Given the description of an element on the screen output the (x, y) to click on. 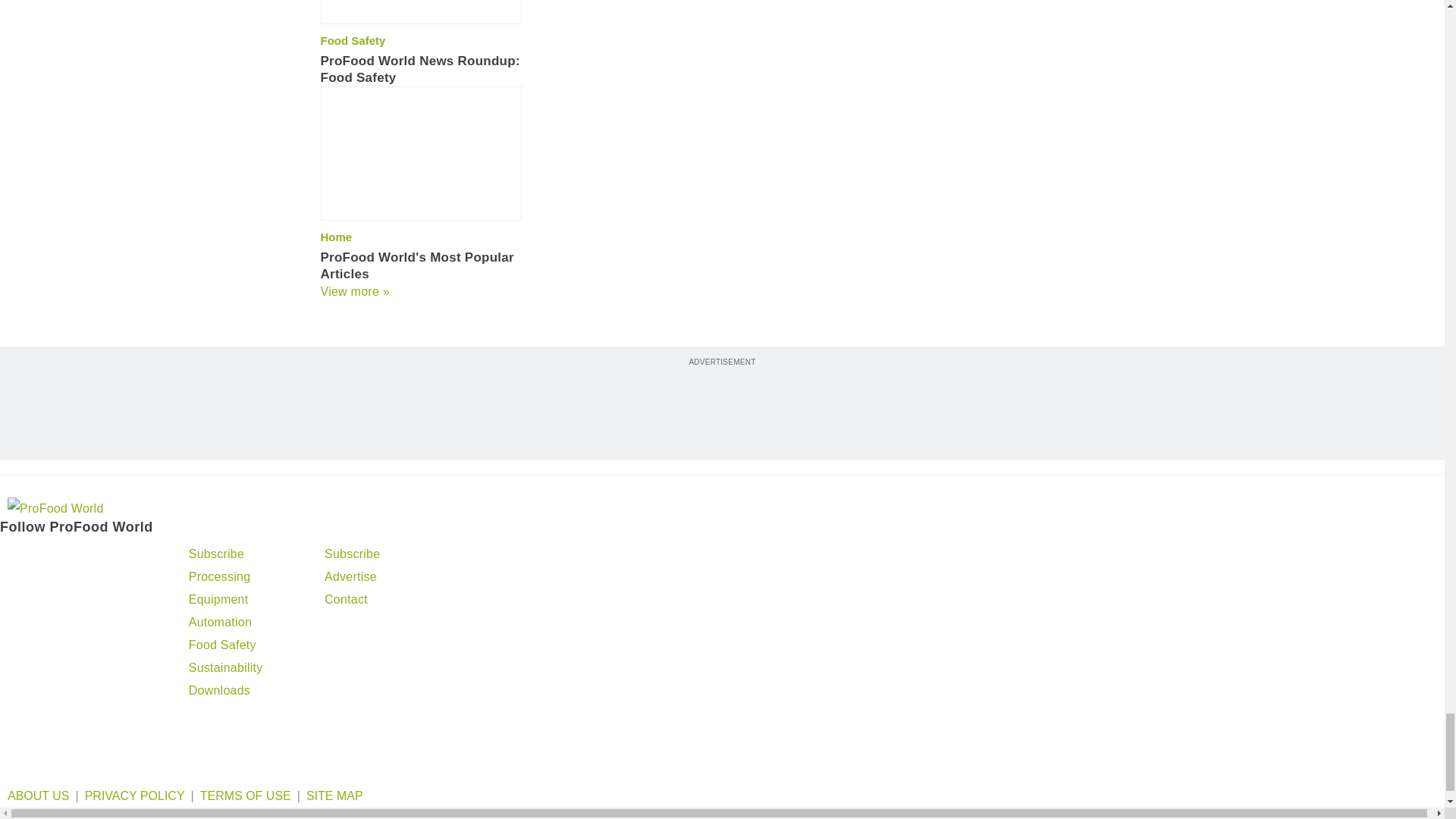
Facebook icon (55, 556)
YouTube icon (133, 556)
Twitter X icon (13, 556)
LinkedIn icon (94, 556)
